Given the description of an element on the screen output the (x, y) to click on. 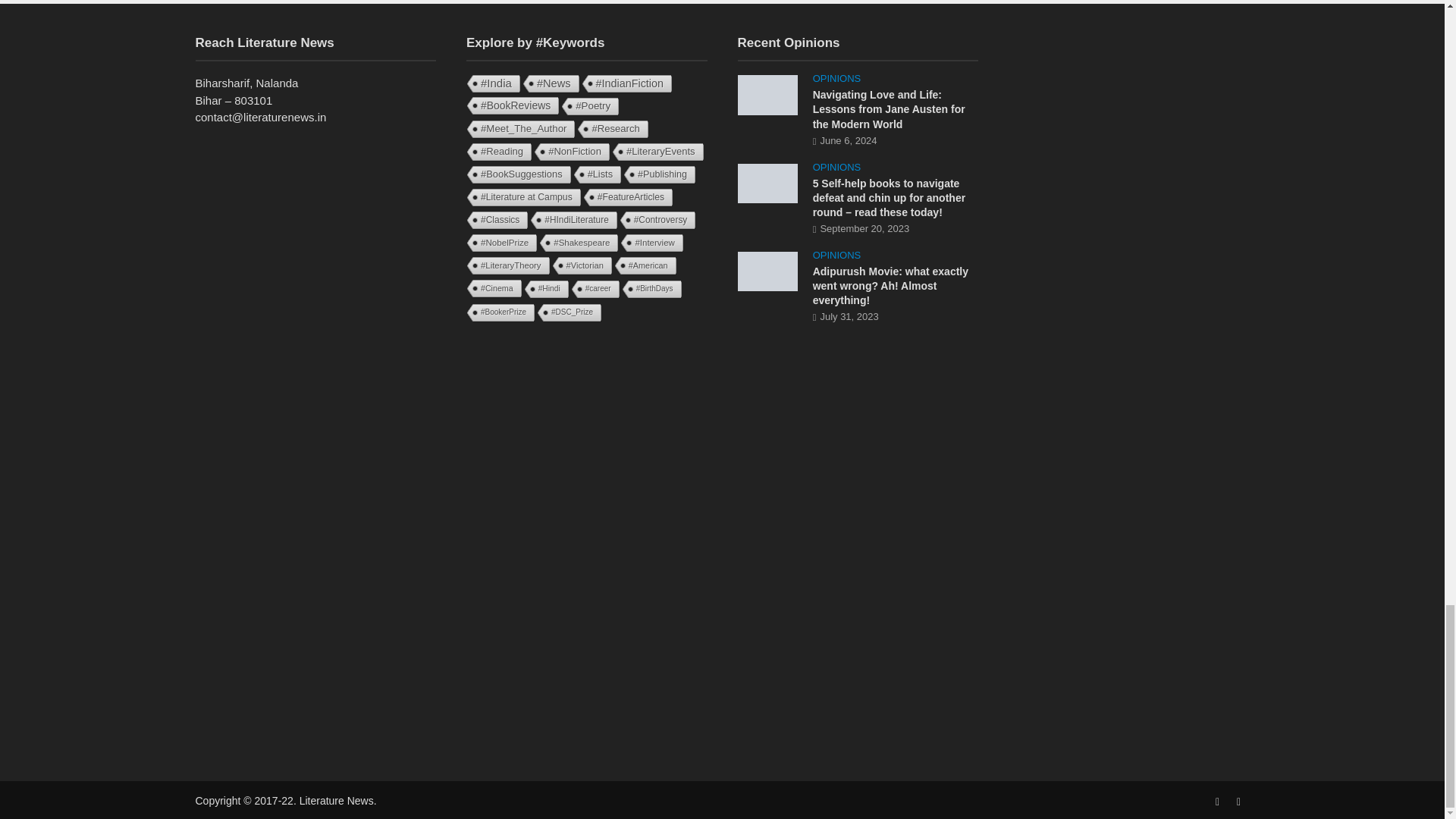
Advertisement (586, 451)
